Given the description of an element on the screen output the (x, y) to click on. 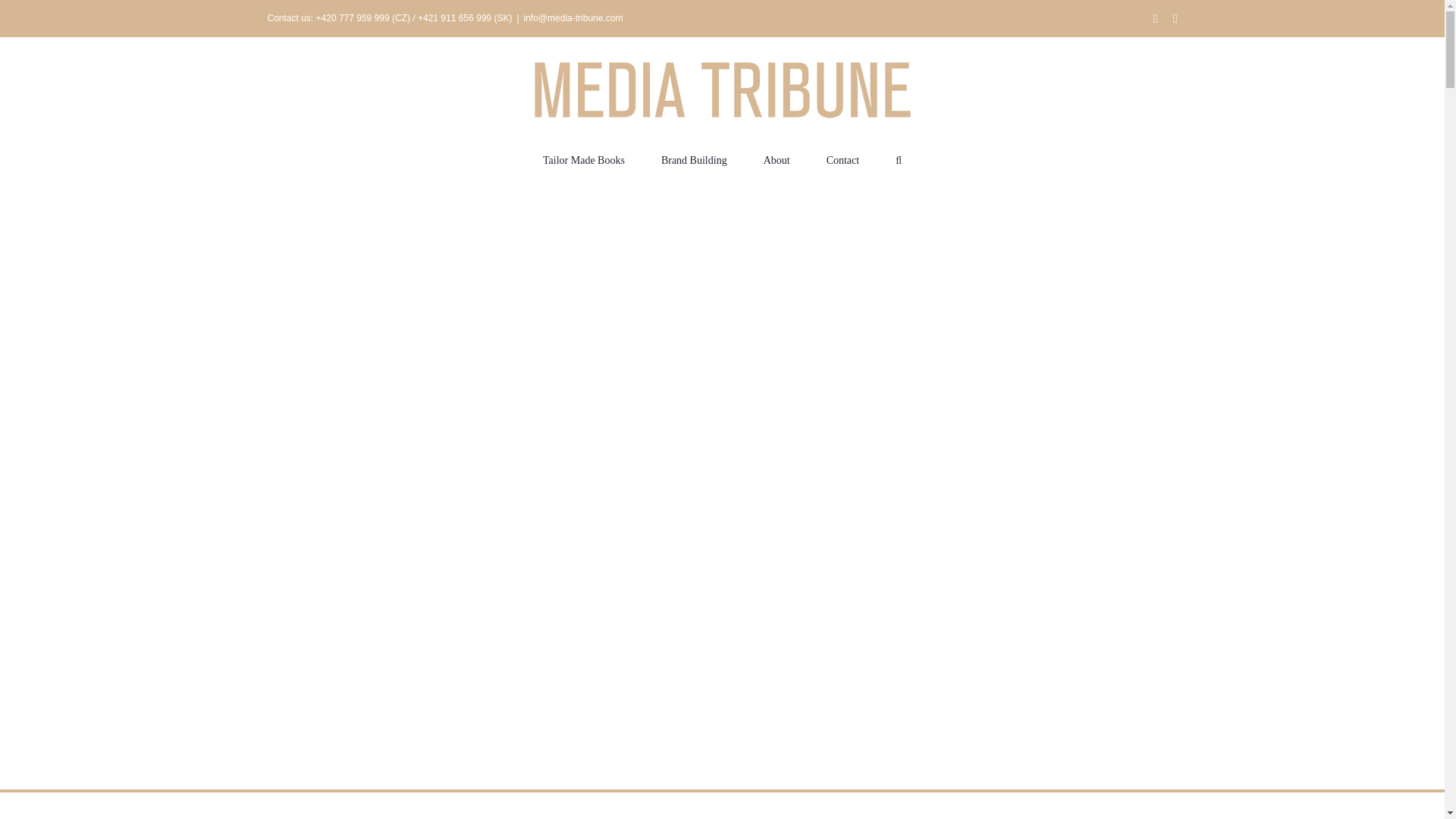
Contact (843, 159)
Tailor Made Books (583, 159)
Brand Building (693, 159)
